Given the description of an element on the screen output the (x, y) to click on. 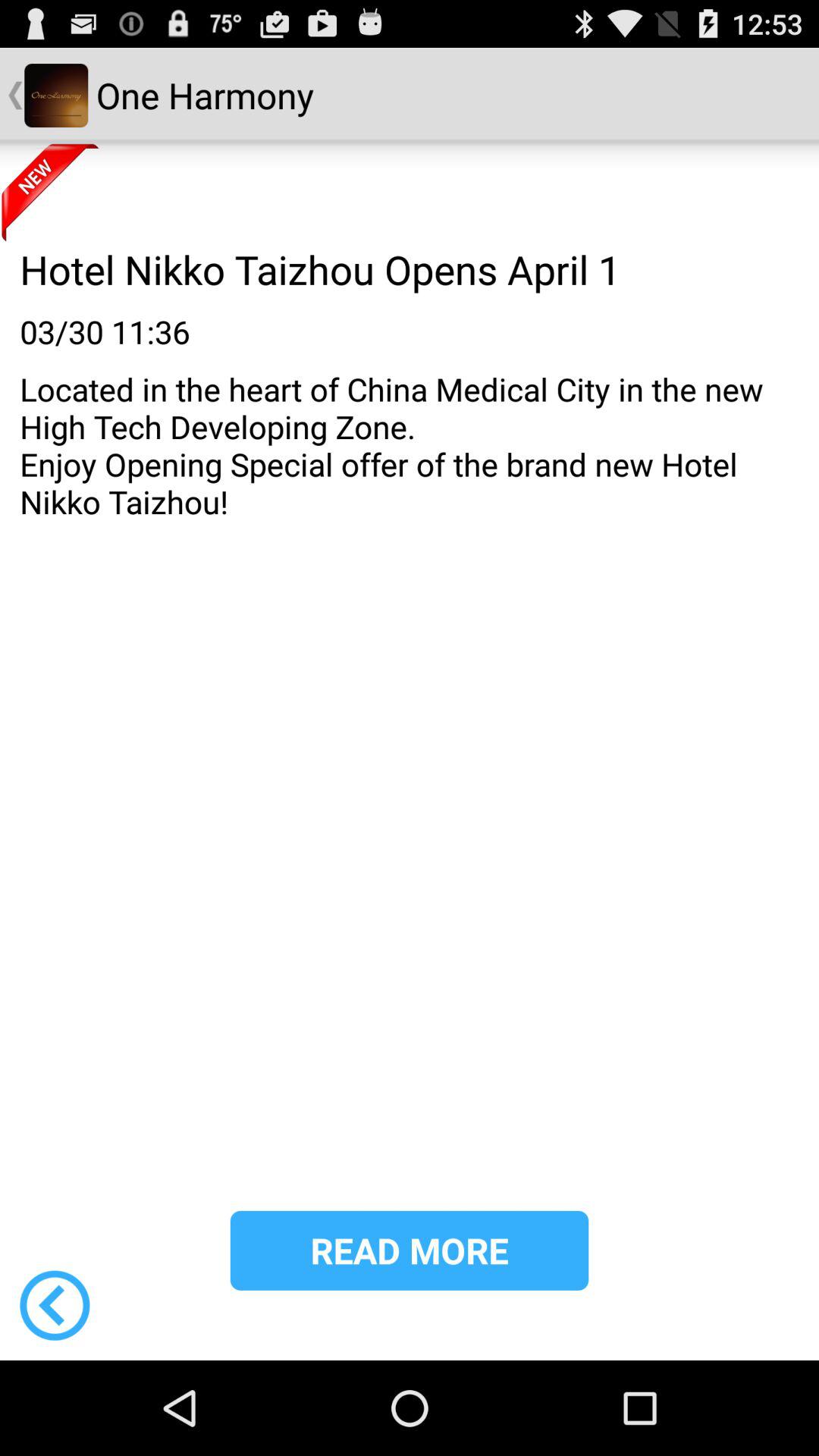
click read more at the bottom (409, 1250)
